Given the description of an element on the screen output the (x, y) to click on. 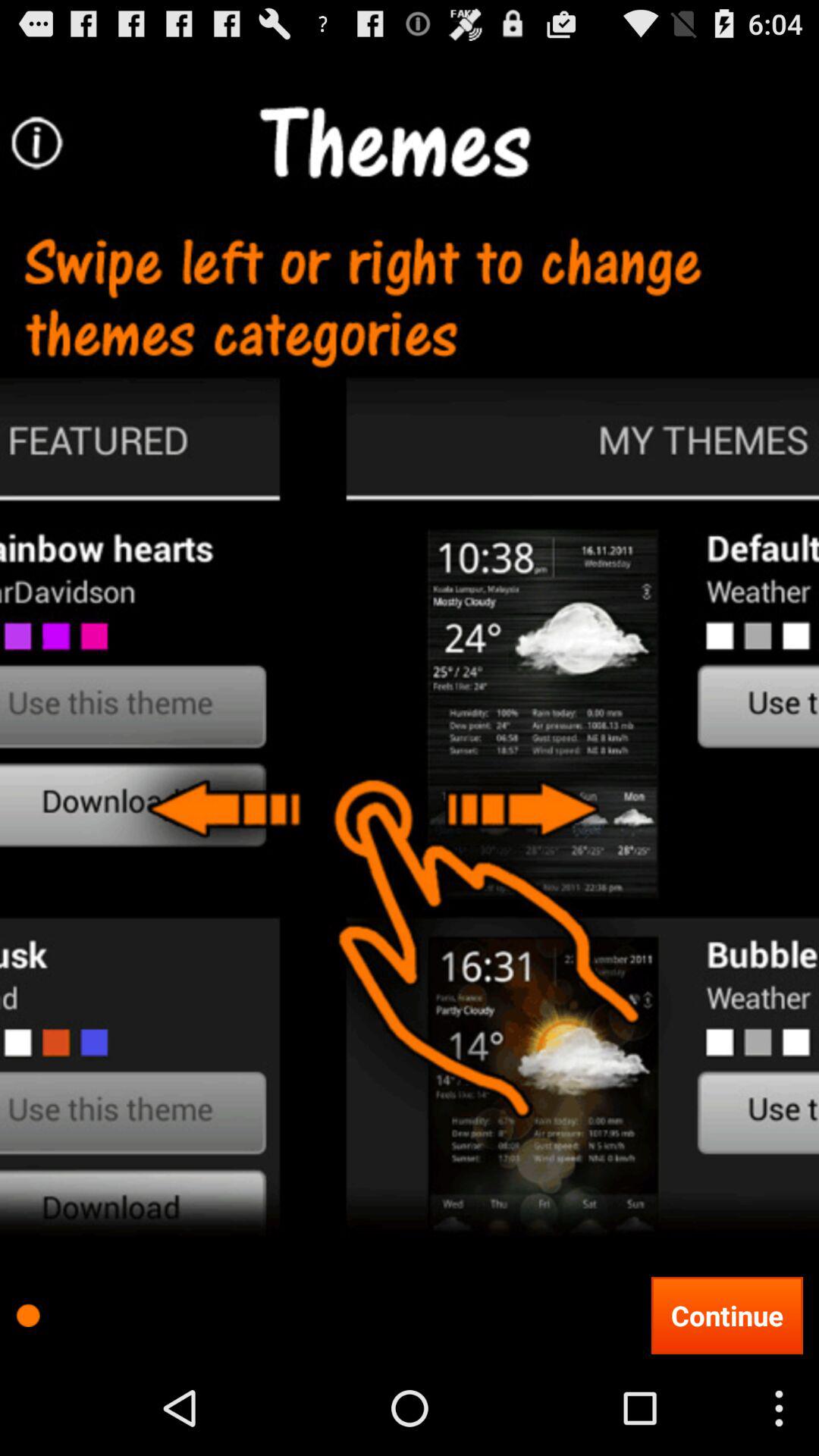
jump to the continue button (727, 1315)
